Given the description of an element on the screen output the (x, y) to click on. 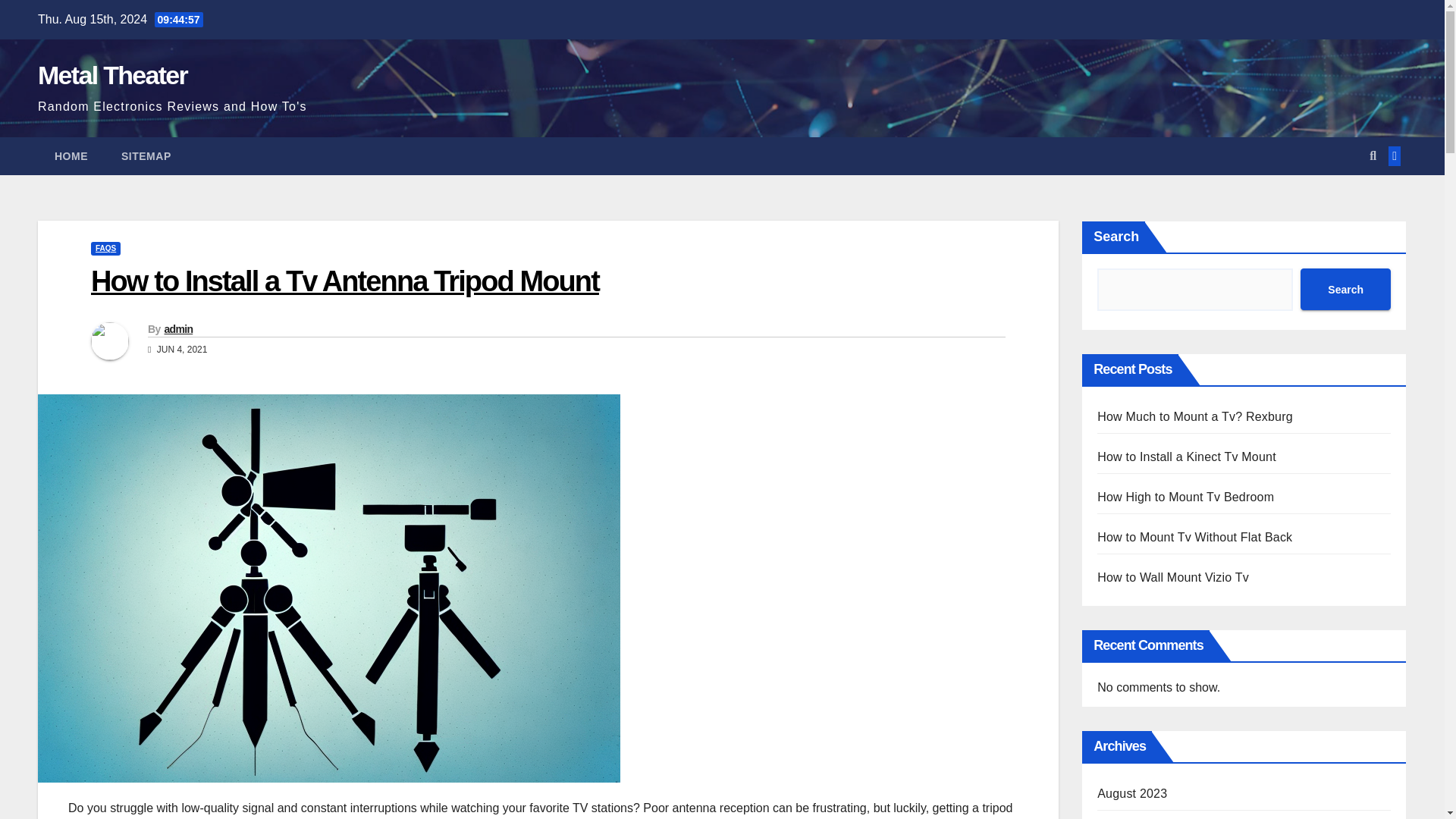
HOME (70, 156)
Metal Theater (112, 74)
FAQS (105, 248)
Permalink to: How to Install a Tv Antenna Tripod Mount (344, 281)
SITEMAP (145, 156)
admin (177, 328)
Home (70, 156)
How to Install a Tv Antenna Tripod Mount (344, 281)
